Given the description of an element on the screen output the (x, y) to click on. 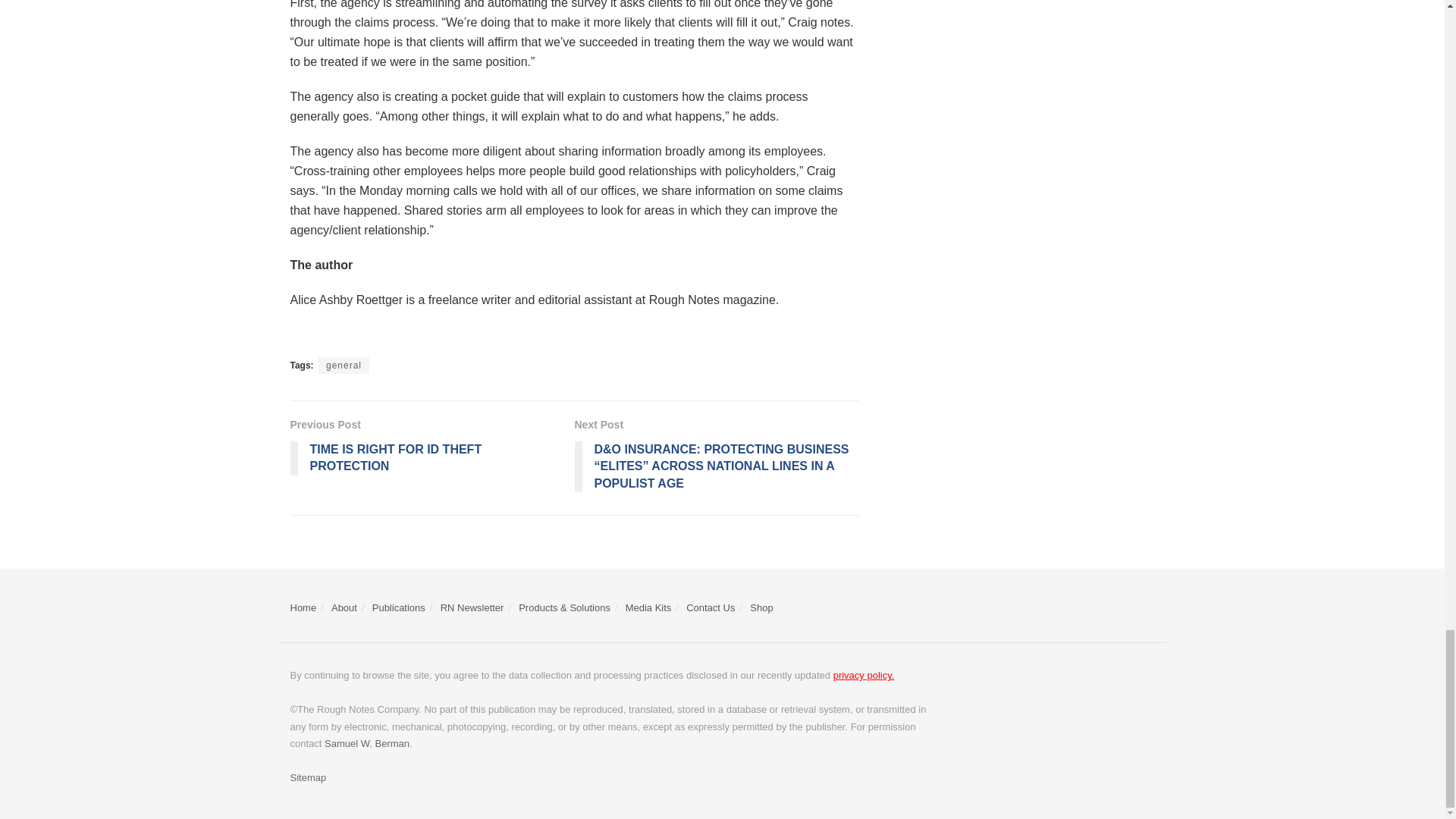
Email this article (494, 337)
Share to LinkedIn (383, 337)
Share to Twitter (328, 337)
Share to Tumblr (437, 337)
Share to StumbleUpon (410, 337)
shop (761, 607)
Share to Facebook (301, 337)
product and solutions (564, 607)
Share to Pinterest (464, 337)
Share to Reddit (355, 337)
